Given the description of an element on the screen output the (x, y) to click on. 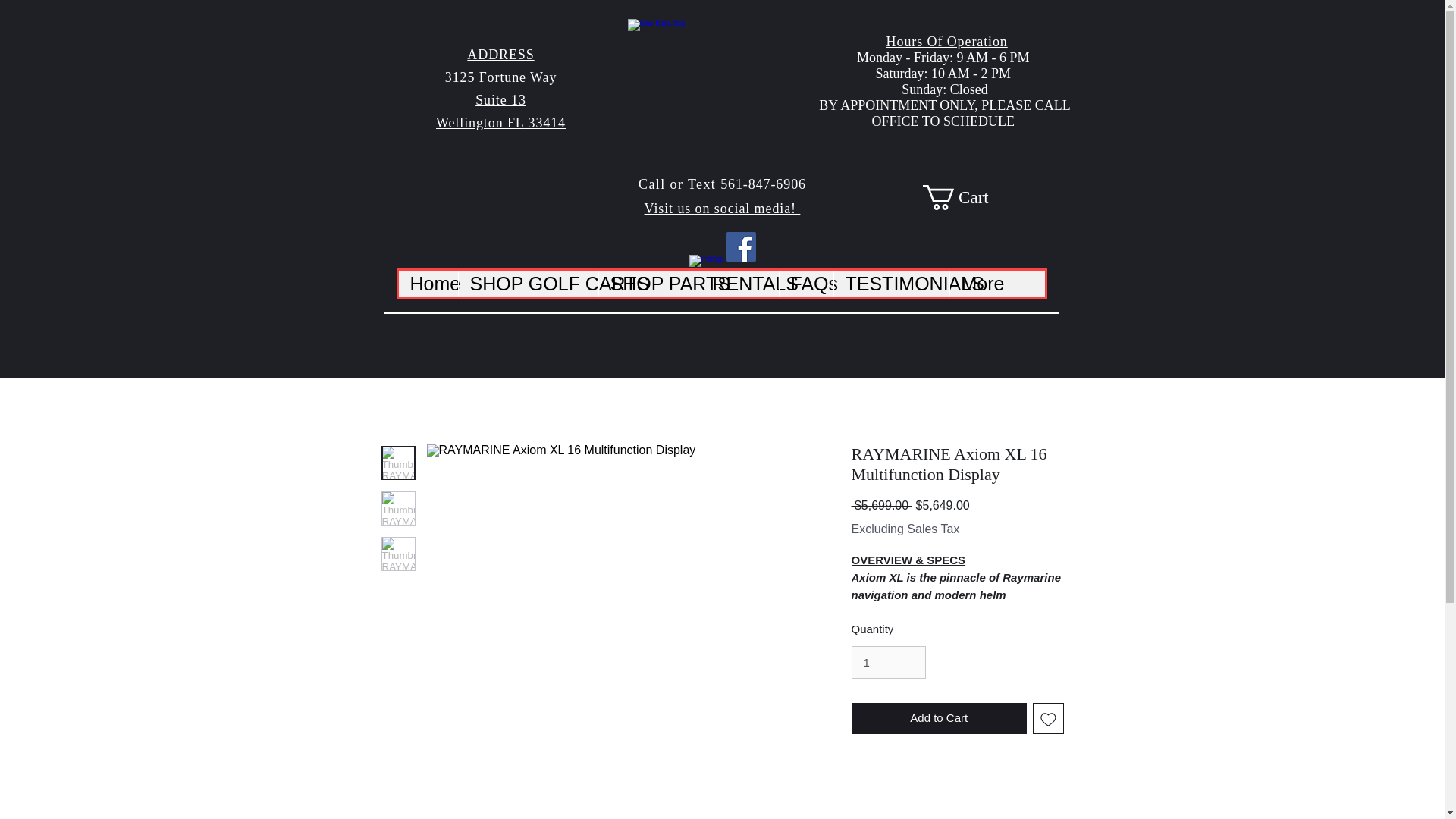
FAQs (804, 283)
Cart (967, 197)
Cart (967, 197)
Add to Cart (938, 717)
TESTIMONIALS (890, 283)
RENTALS (739, 283)
Home (428, 283)
1 (887, 662)
SHOP PARTS (648, 283)
Visit us on social media!  (722, 208)
